Given the description of an element on the screen output the (x, y) to click on. 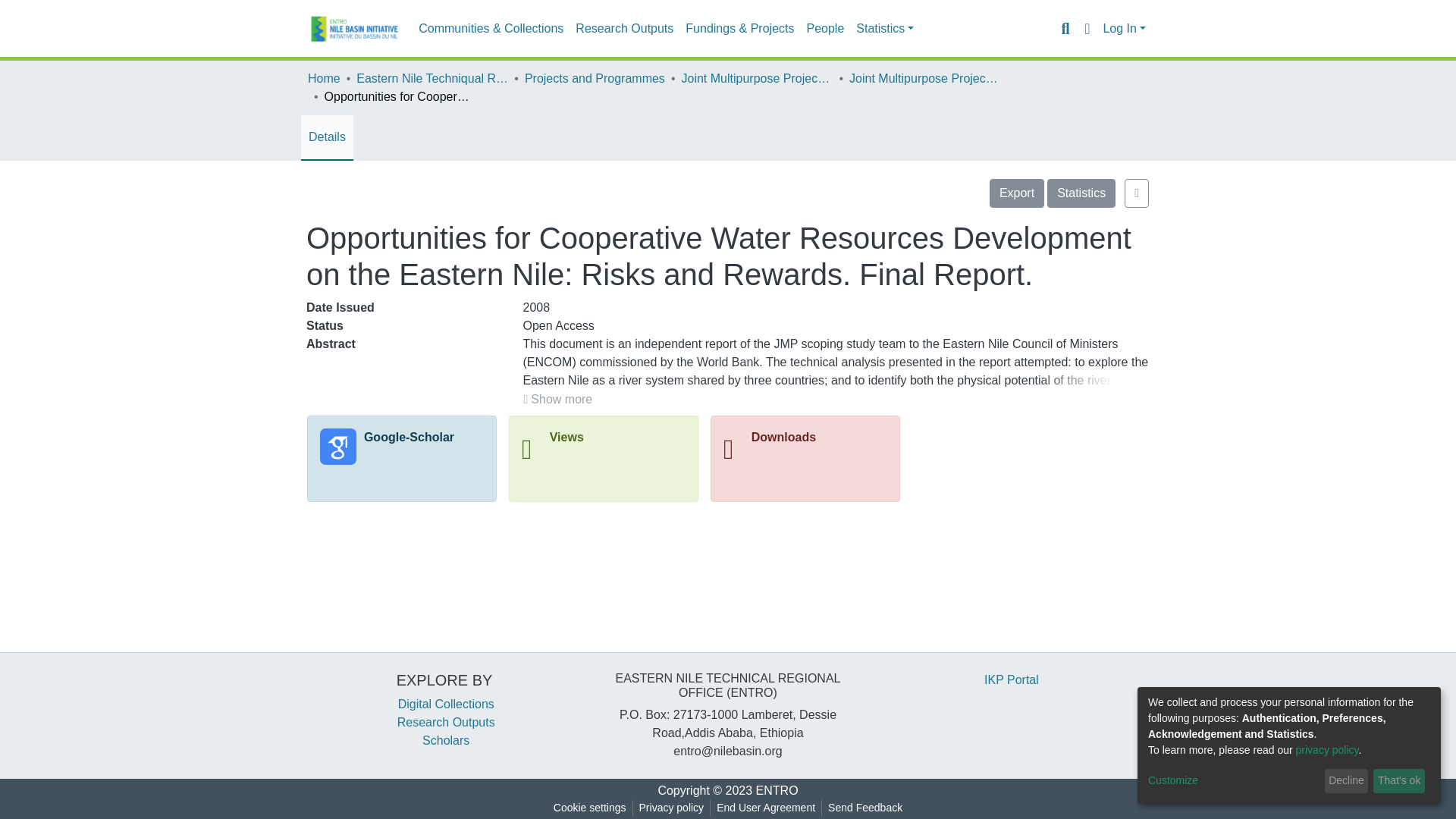
Statistics (885, 28)
Google-Scholar (394, 446)
Digital Collections (444, 703)
People (825, 28)
Downloads (772, 449)
Export (1016, 193)
Search (1064, 28)
Details (327, 136)
Show more (558, 399)
People (825, 28)
